Given the description of an element on the screen output the (x, y) to click on. 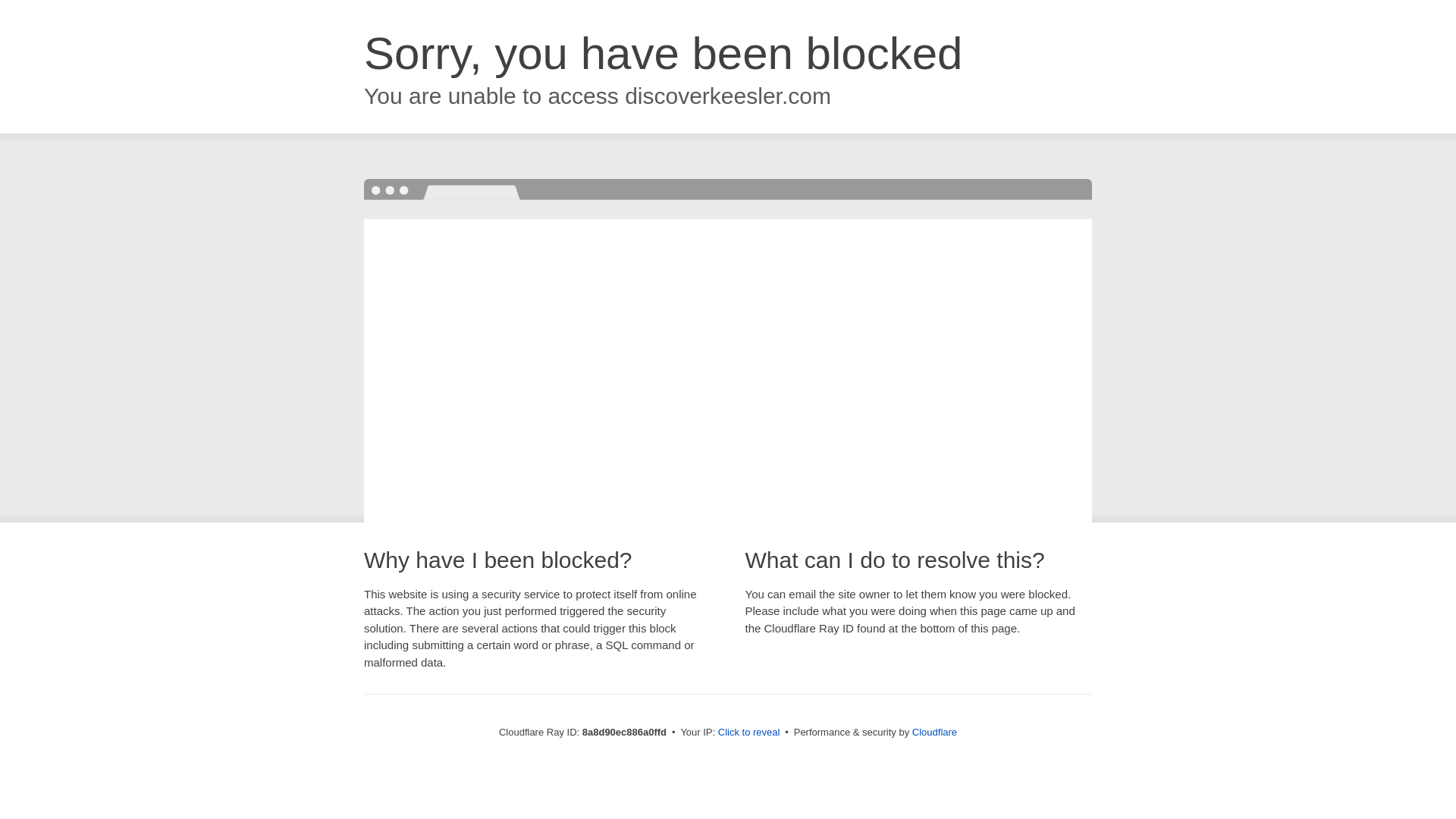
Cloudflare (934, 731)
Click to reveal (748, 732)
